Given the description of an element on the screen output the (x, y) to click on. 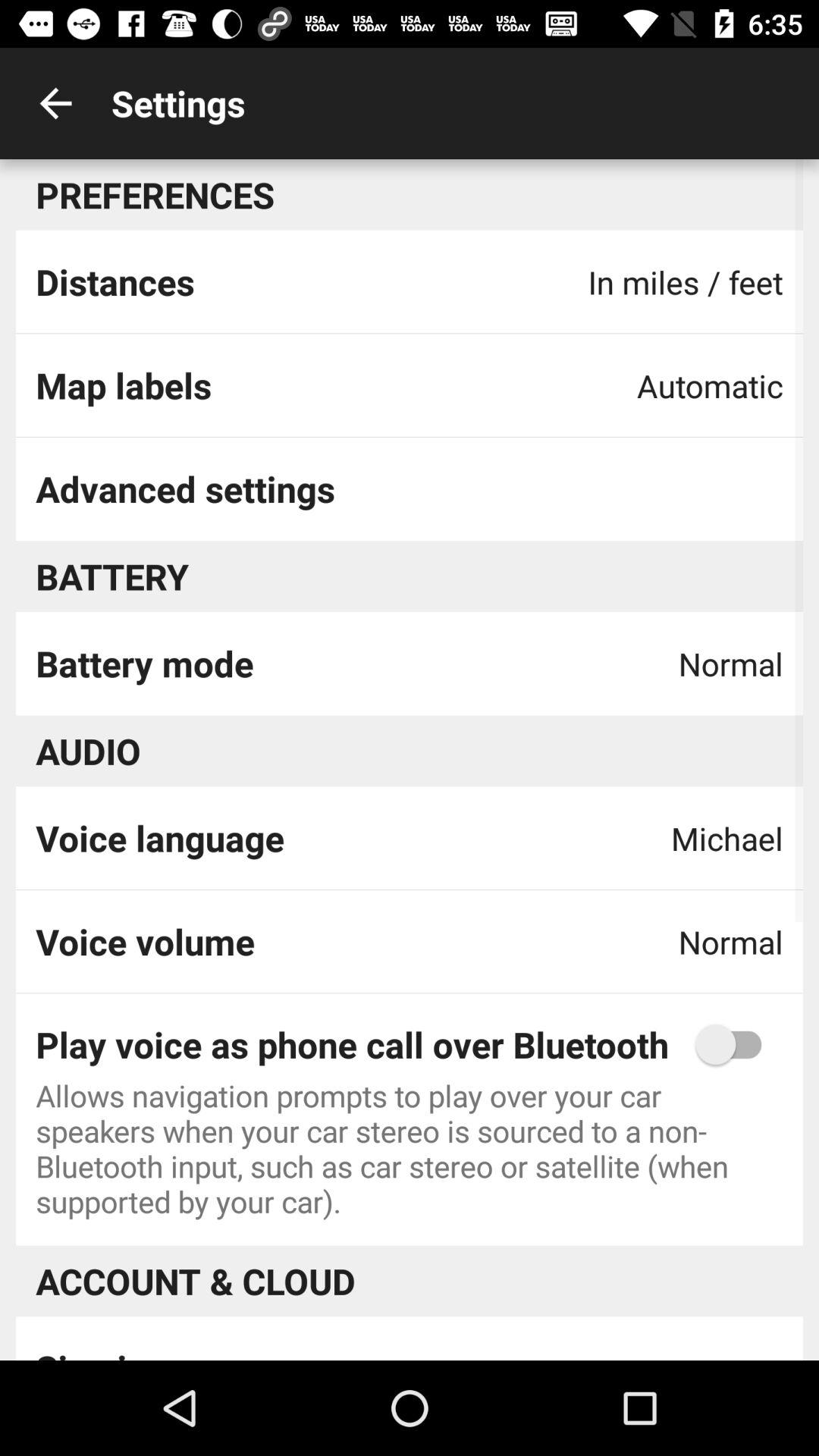
flip to the automatic item (710, 385)
